Given the description of an element on the screen output the (x, y) to click on. 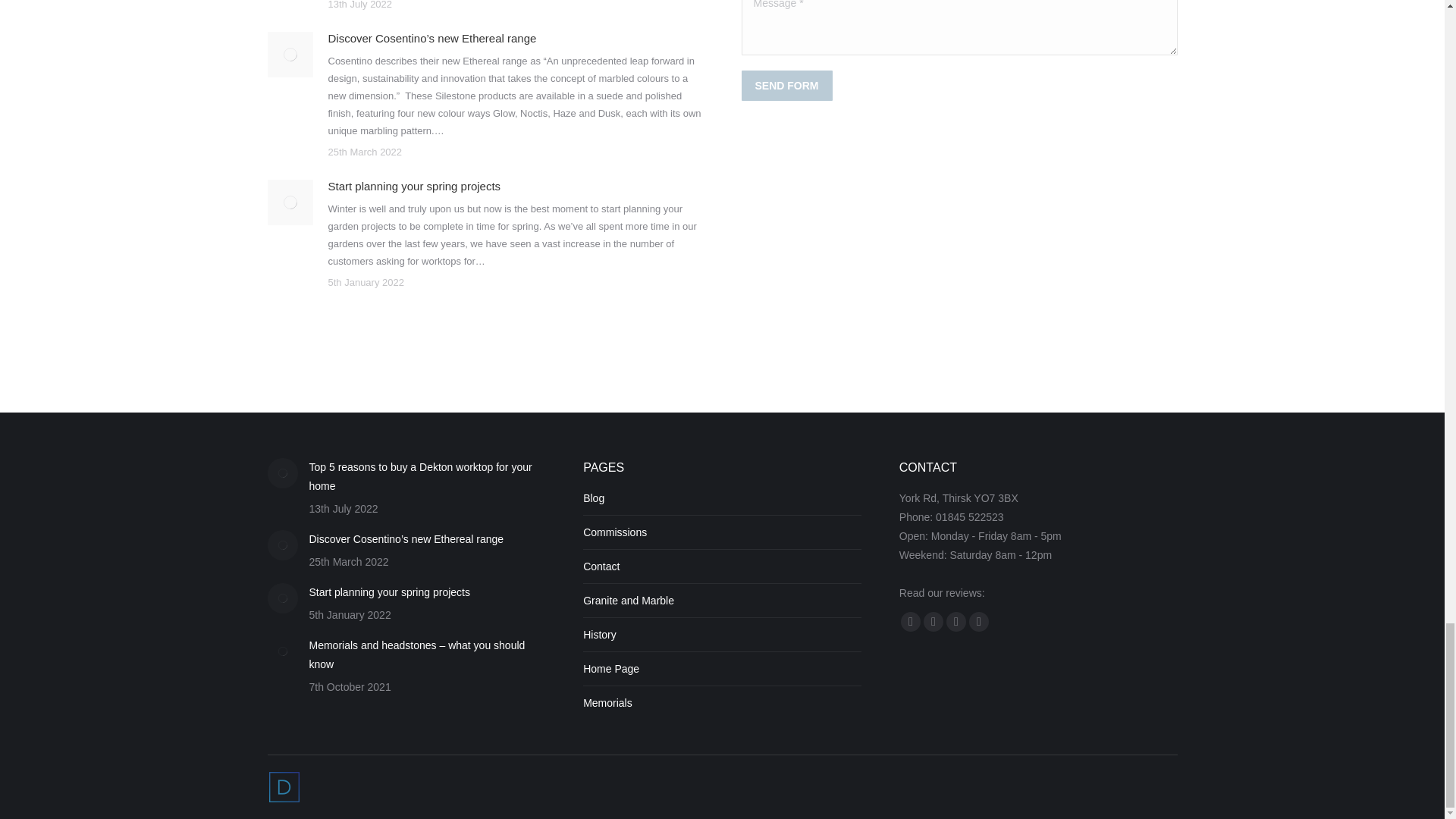
submit (872, 87)
Blog (593, 497)
Twitter page opens in new window (933, 621)
Top 5 reasons to buy a Dekton worktop for your home (427, 476)
Linkedin page opens in new window (956, 621)
Facebook page opens in new window (910, 621)
SEND FORM (786, 85)
submit (872, 87)
Start planning your spring projects (413, 186)
Start planning your spring projects (389, 592)
Instagram page opens in new window (978, 621)
